Given the description of an element on the screen output the (x, y) to click on. 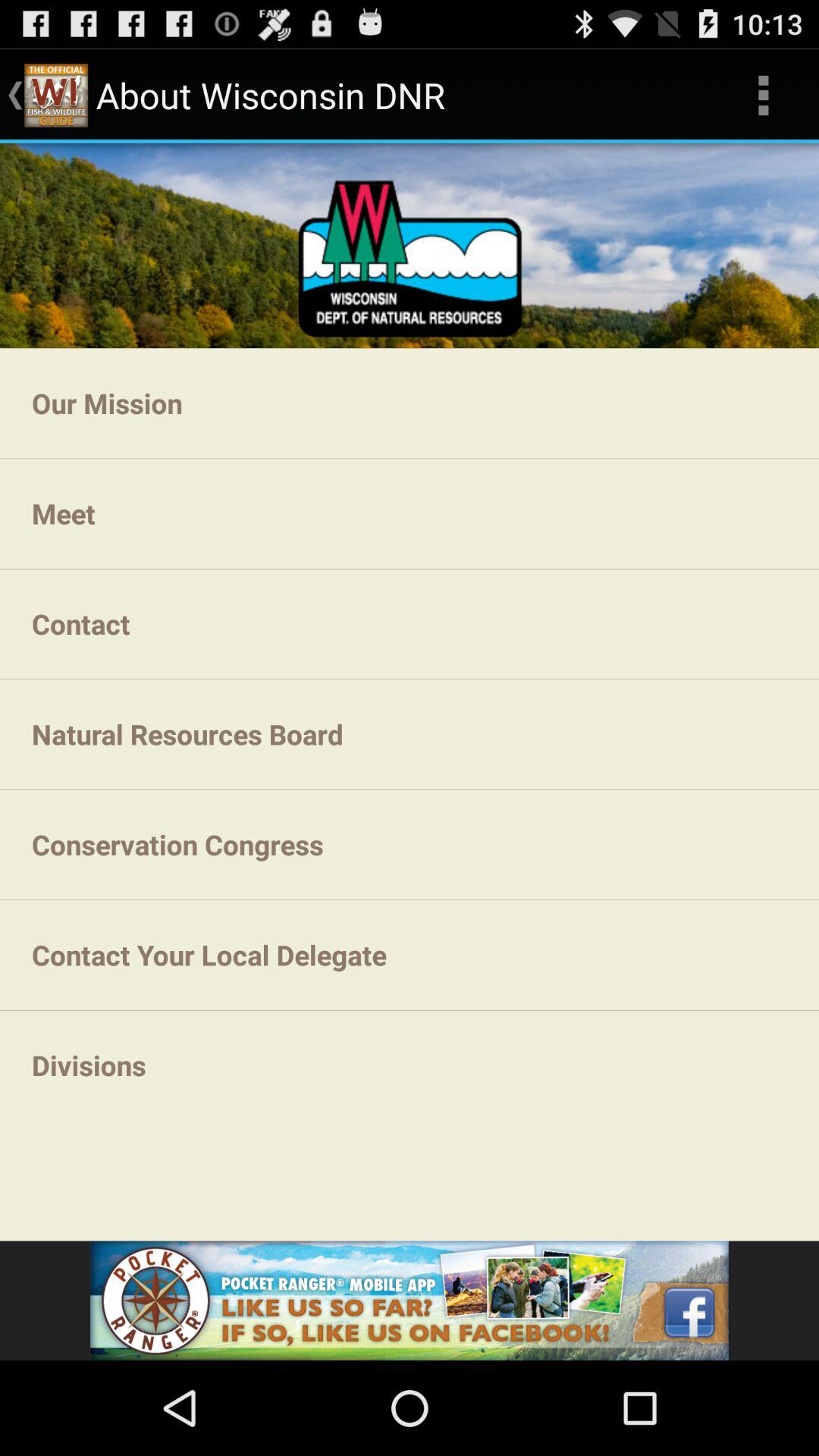
go to advertisement option (409, 1300)
